Given the description of an element on the screen output the (x, y) to click on. 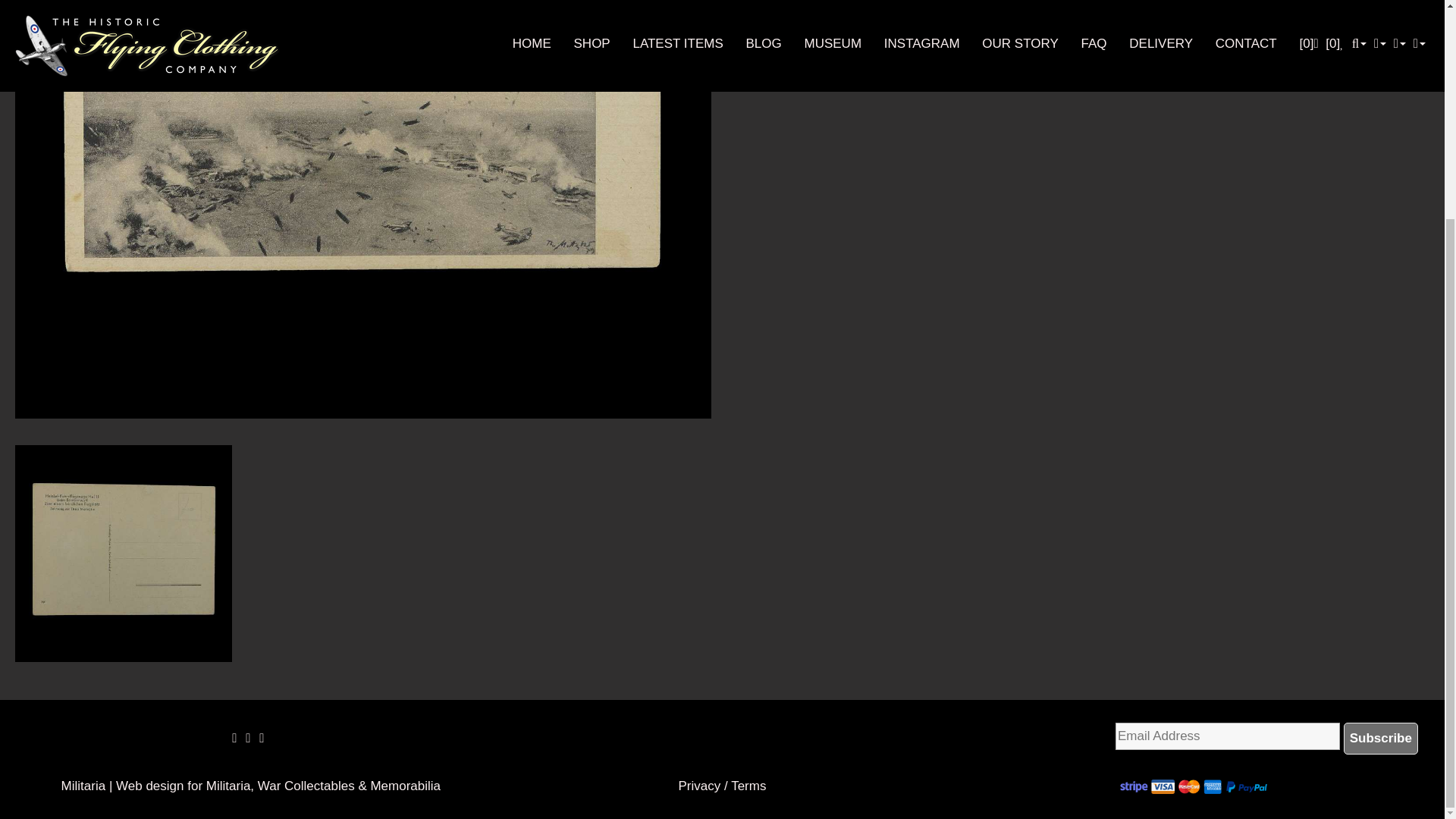
Subscribe (1380, 738)
Privacy (699, 785)
Militaria (83, 785)
